Given the description of an element on the screen output the (x, y) to click on. 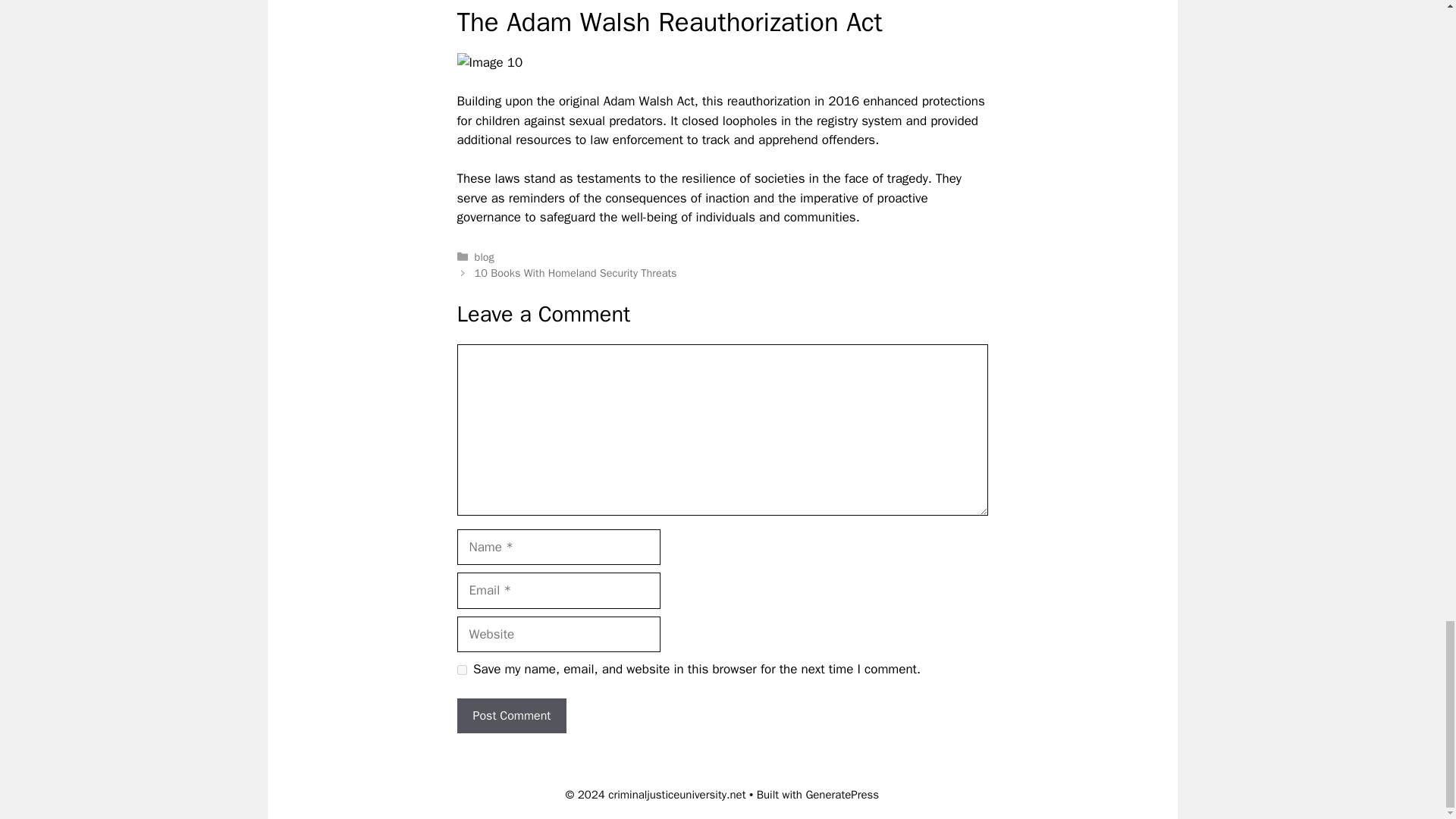
Post Comment (511, 715)
10 Books With Homeland Security Threats (575, 273)
yes (461, 669)
blog (484, 256)
Post Comment (511, 715)
GeneratePress (842, 794)
